Given the description of an element on the screen output the (x, y) to click on. 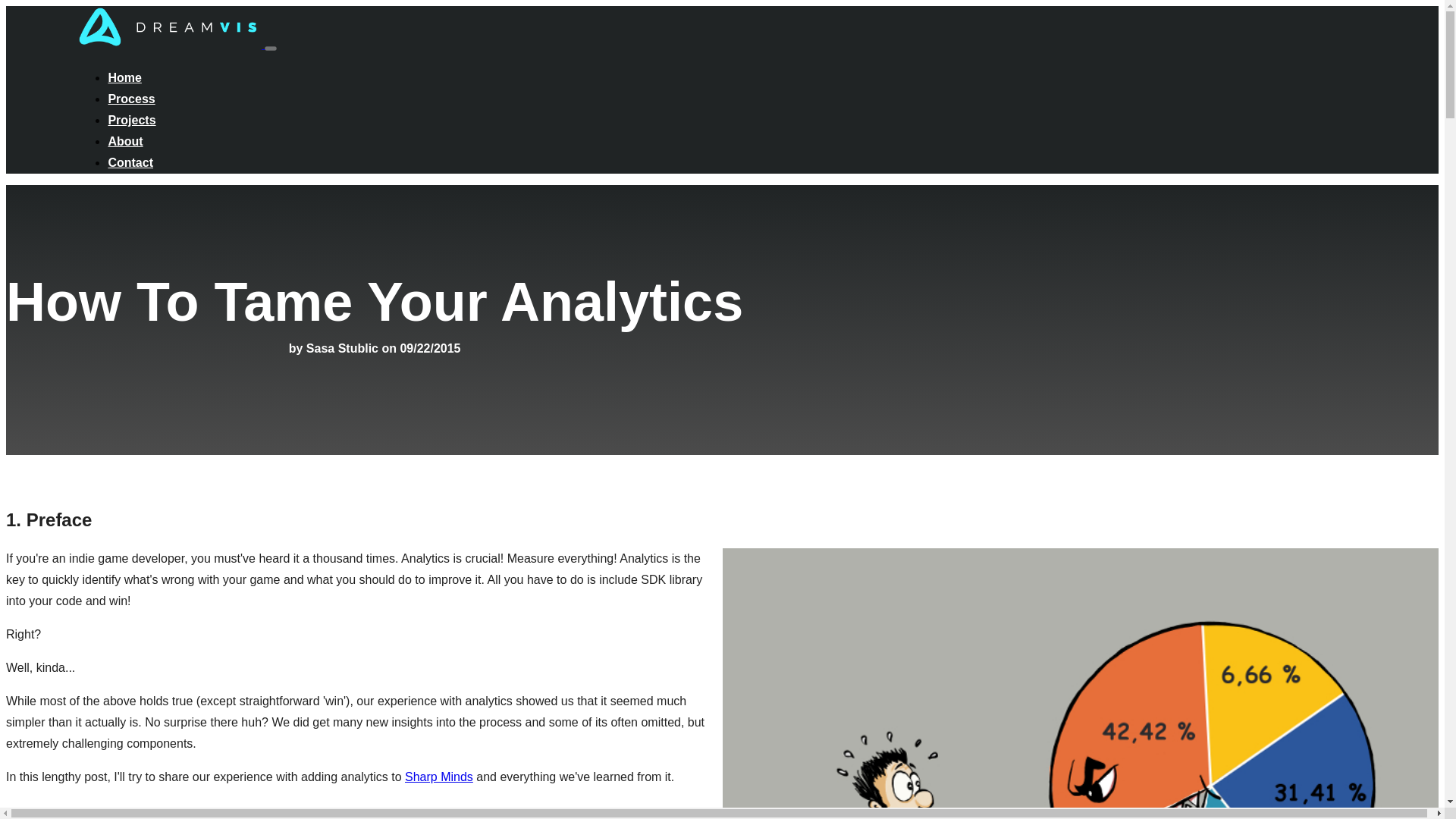
Projects (131, 119)
About (124, 141)
Contact (129, 162)
Process (130, 98)
Sharp Minds (438, 776)
